Given the description of an element on the screen output the (x, y) to click on. 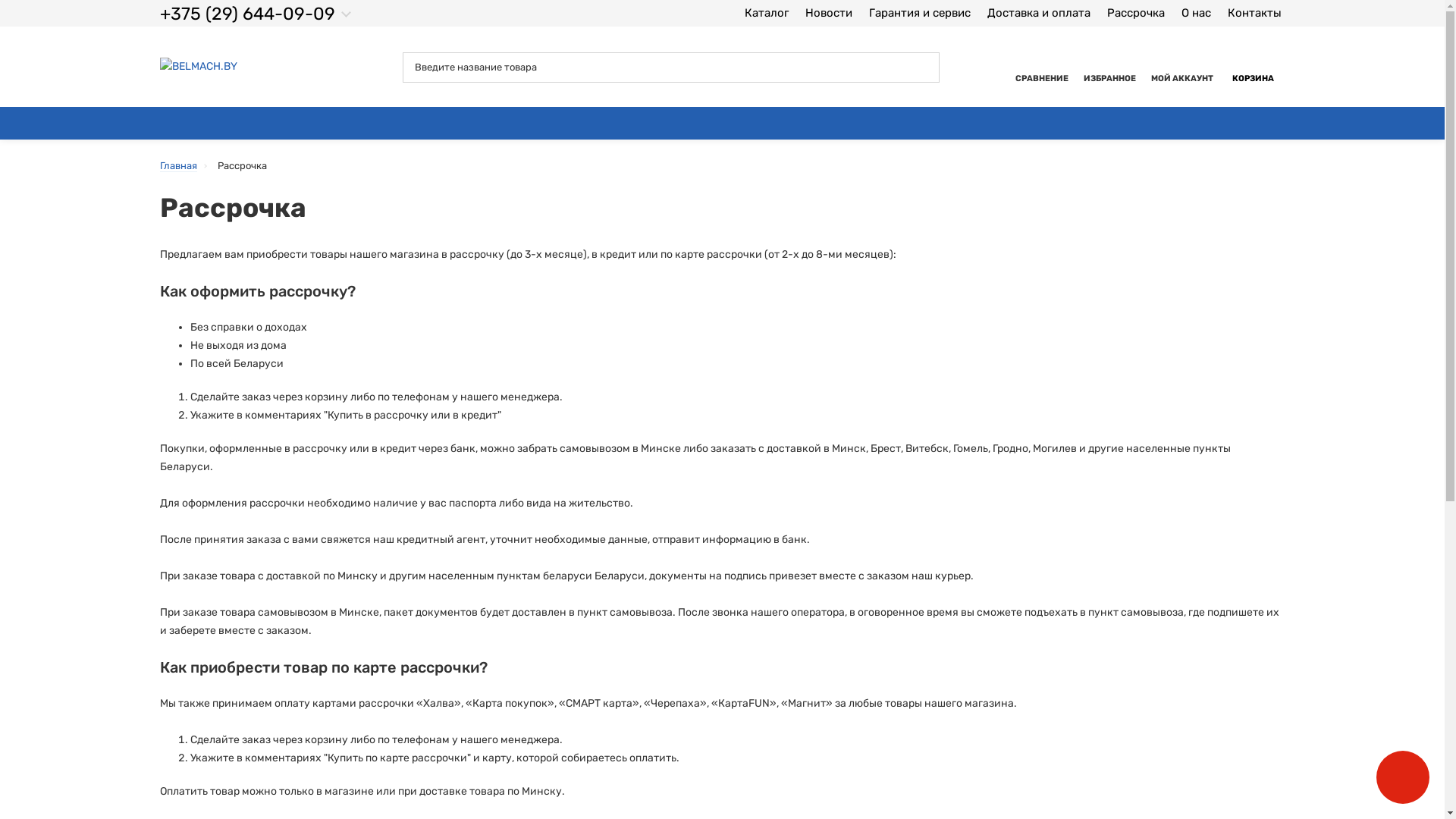
+375 (29) 644-09-09 Element type: text (256, 13)
BELMACH.BY Element type: hover (197, 66)
